Given the description of an element on the screen output the (x, y) to click on. 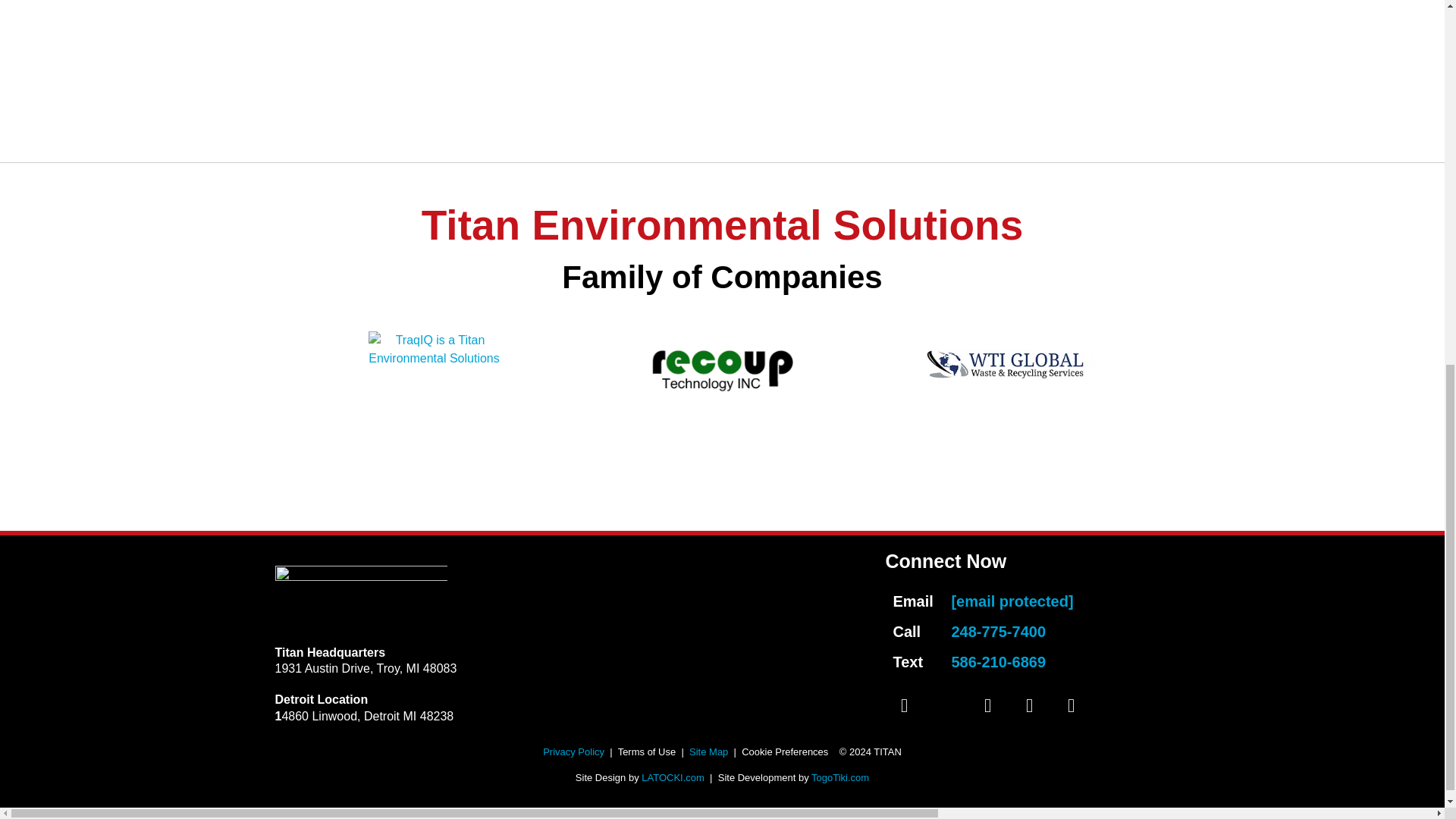
TogoTiki.com (839, 777)
586-210-6869 (997, 661)
LATOCKI.com (673, 777)
Site Map (708, 751)
248-775-7400 (997, 631)
Privacy Policy (573, 751)
Titan Environmental Solutions (722, 224)
